Given the description of an element on the screen output the (x, y) to click on. 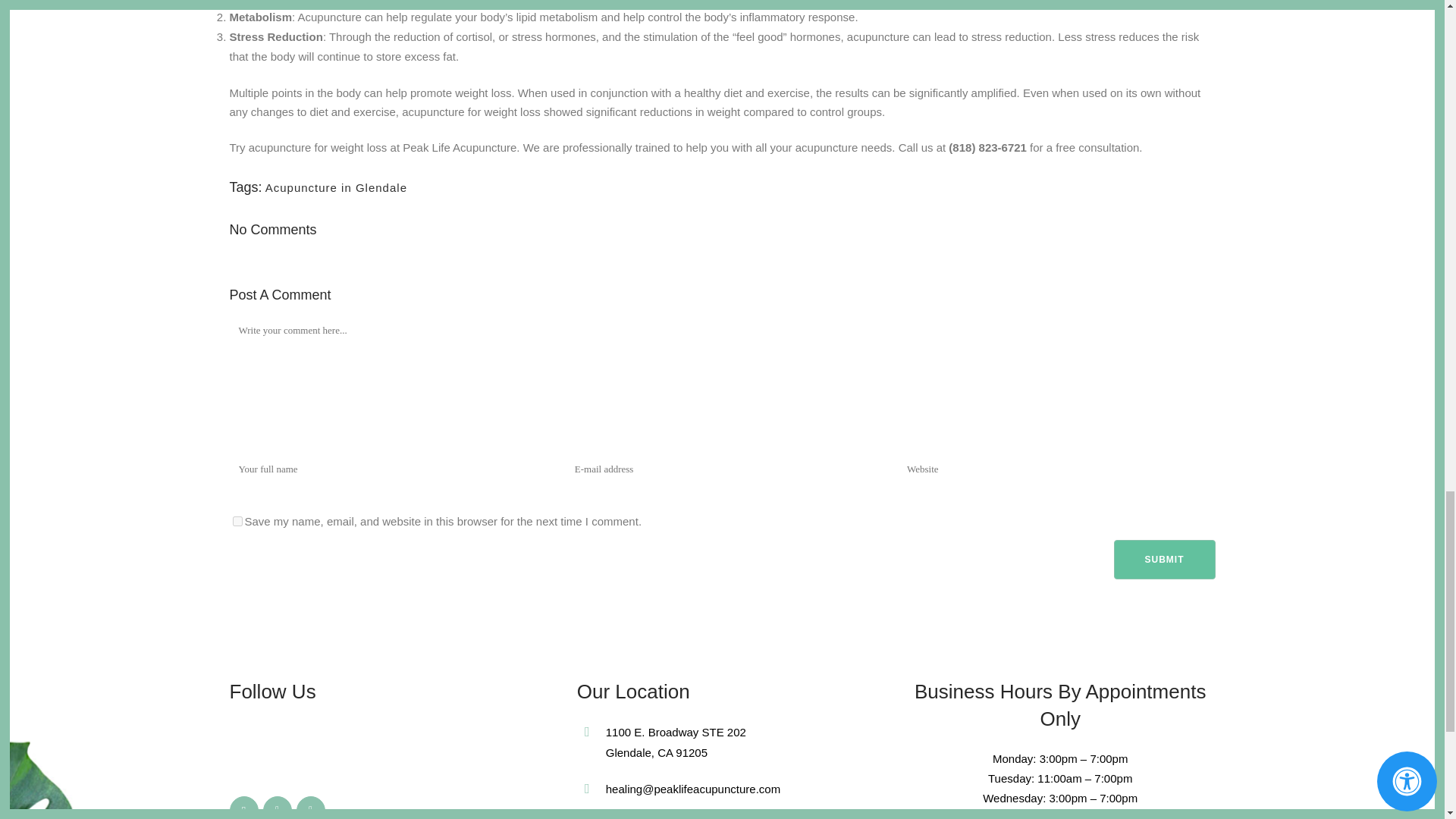
Submit (1163, 559)
yes (236, 521)
Submit (1163, 559)
Acupuncture in Glendale (335, 187)
